Given the description of an element on the screen output the (x, y) to click on. 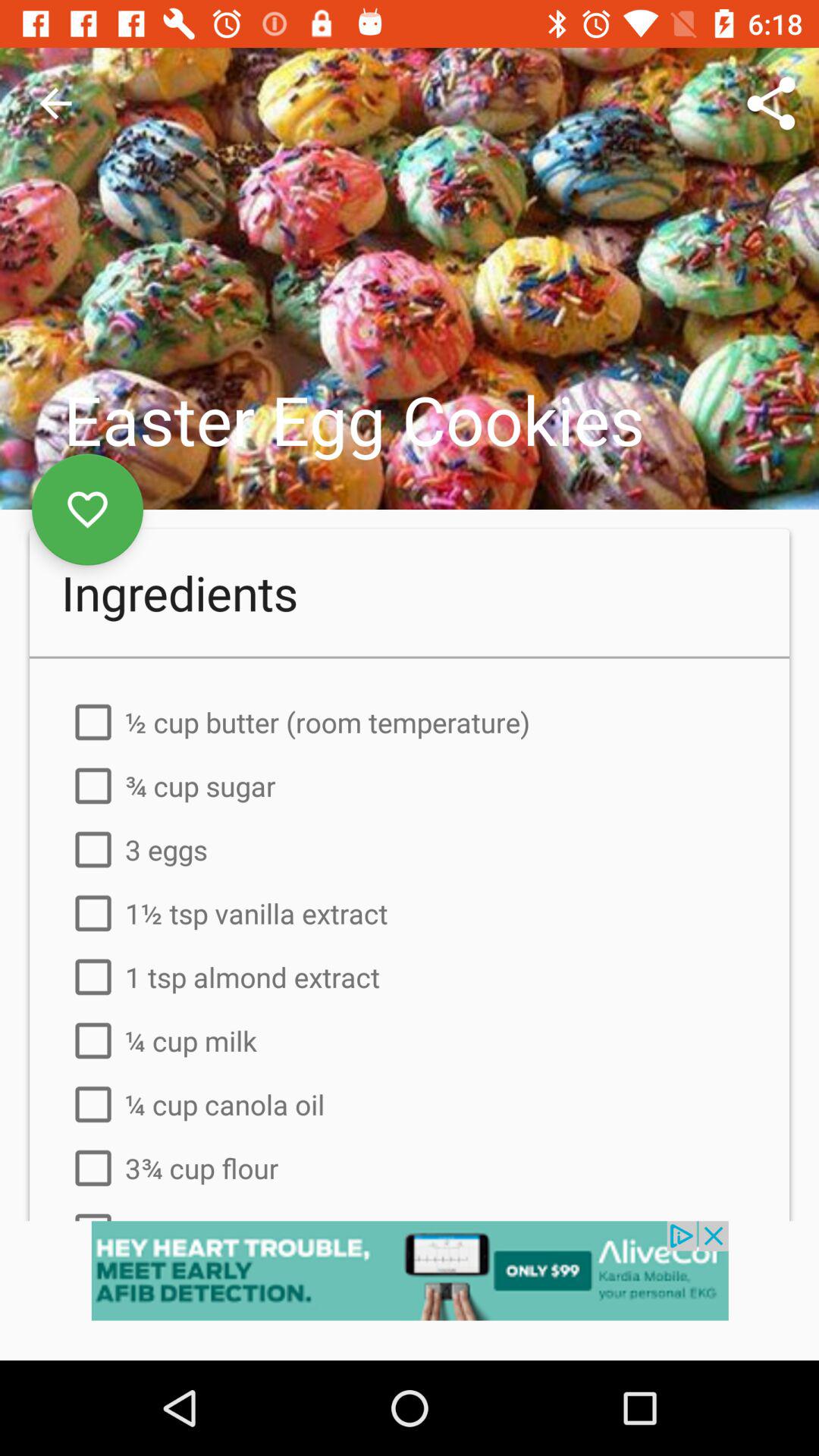
go to rating (87, 509)
